Given the description of an element on the screen output the (x, y) to click on. 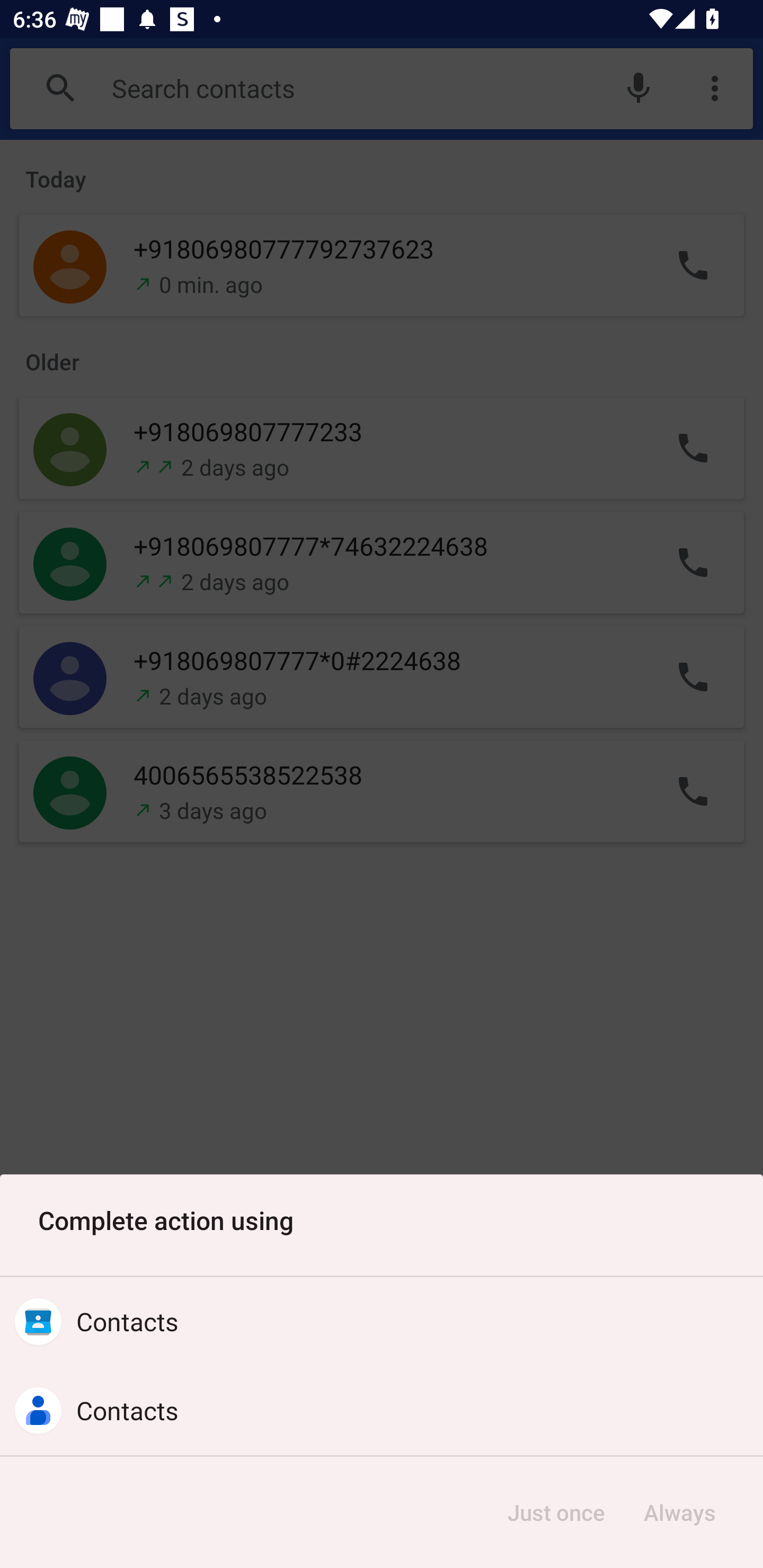
Contacts (381, 1321)
Contacts (381, 1410)
Just once (556, 1512)
Always (679, 1512)
